Given the description of an element on the screen output the (x, y) to click on. 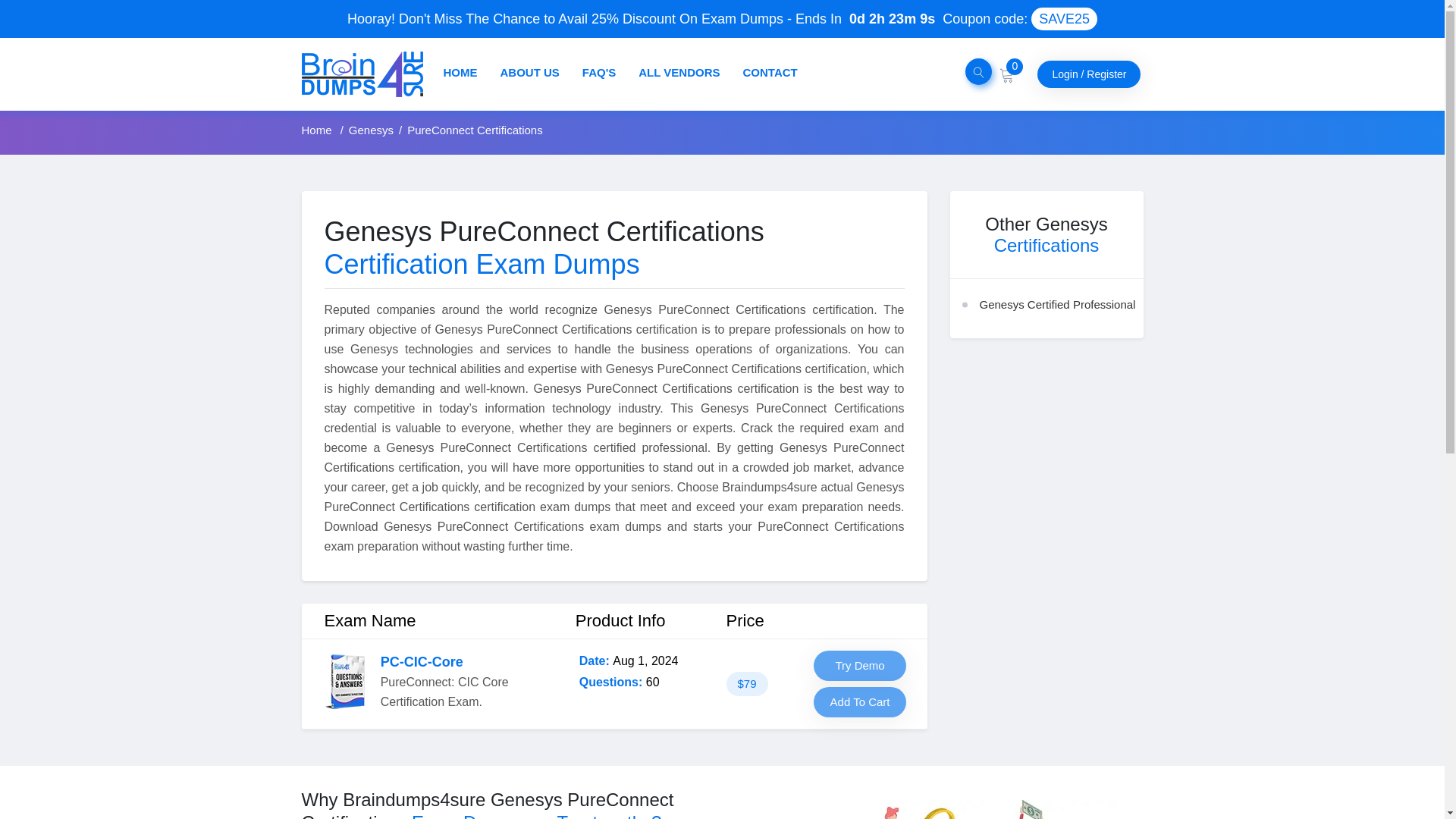
Genesys Certified Professional (1057, 304)
Try Demo (860, 665)
0 (1006, 72)
ALL VENDORS (679, 72)
Try Demo (860, 665)
PC-CIC-Core (421, 661)
HOME (459, 72)
Add To Cart (860, 702)
FAQ'S (598, 72)
Home (317, 129)
Genesys (371, 129)
CONTACT (769, 72)
ABOUT US (529, 72)
